Given the description of an element on the screen output the (x, y) to click on. 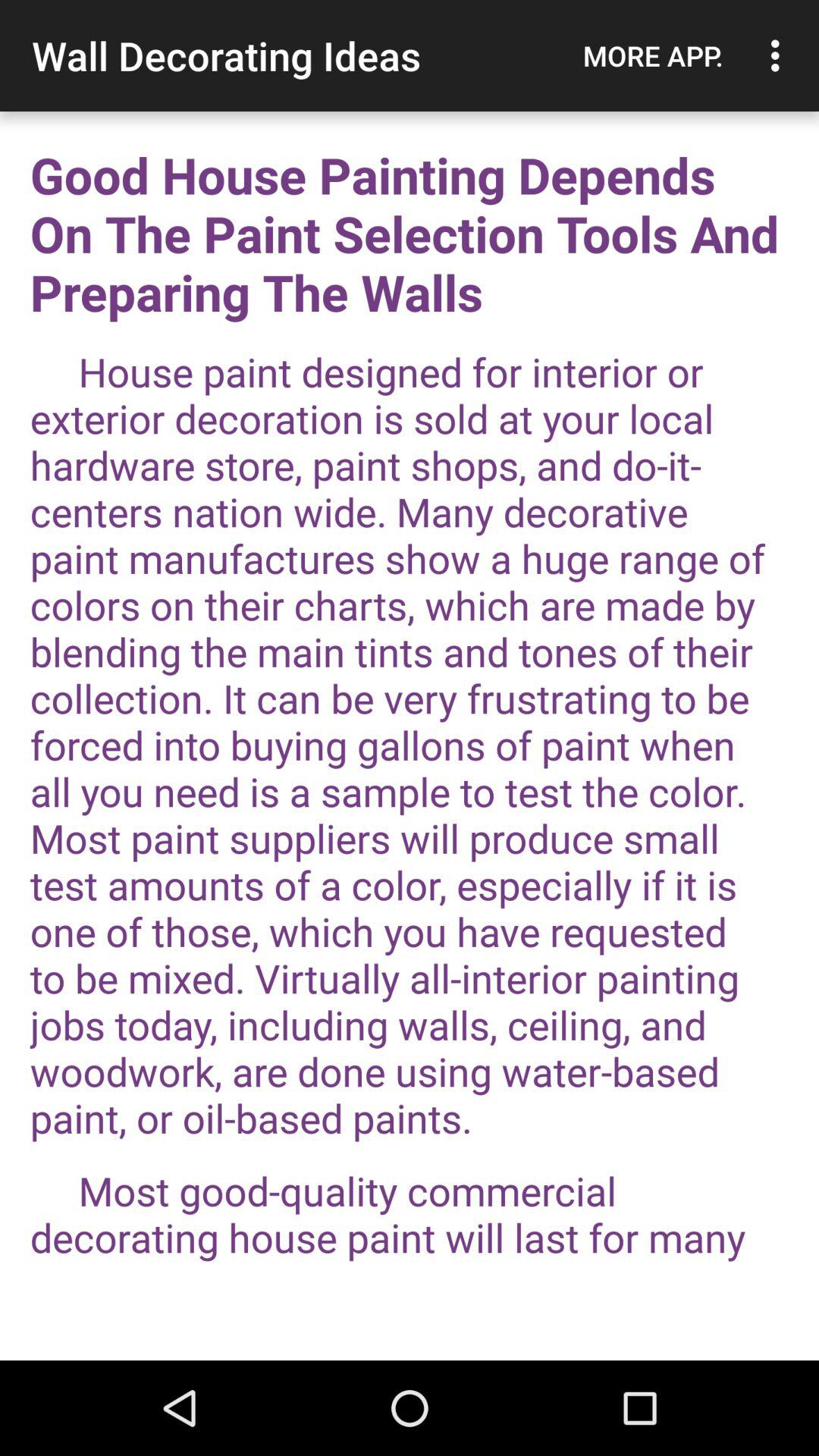
turn on icon to the right of the more app. icon (779, 55)
